Given the description of an element on the screen output the (x, y) to click on. 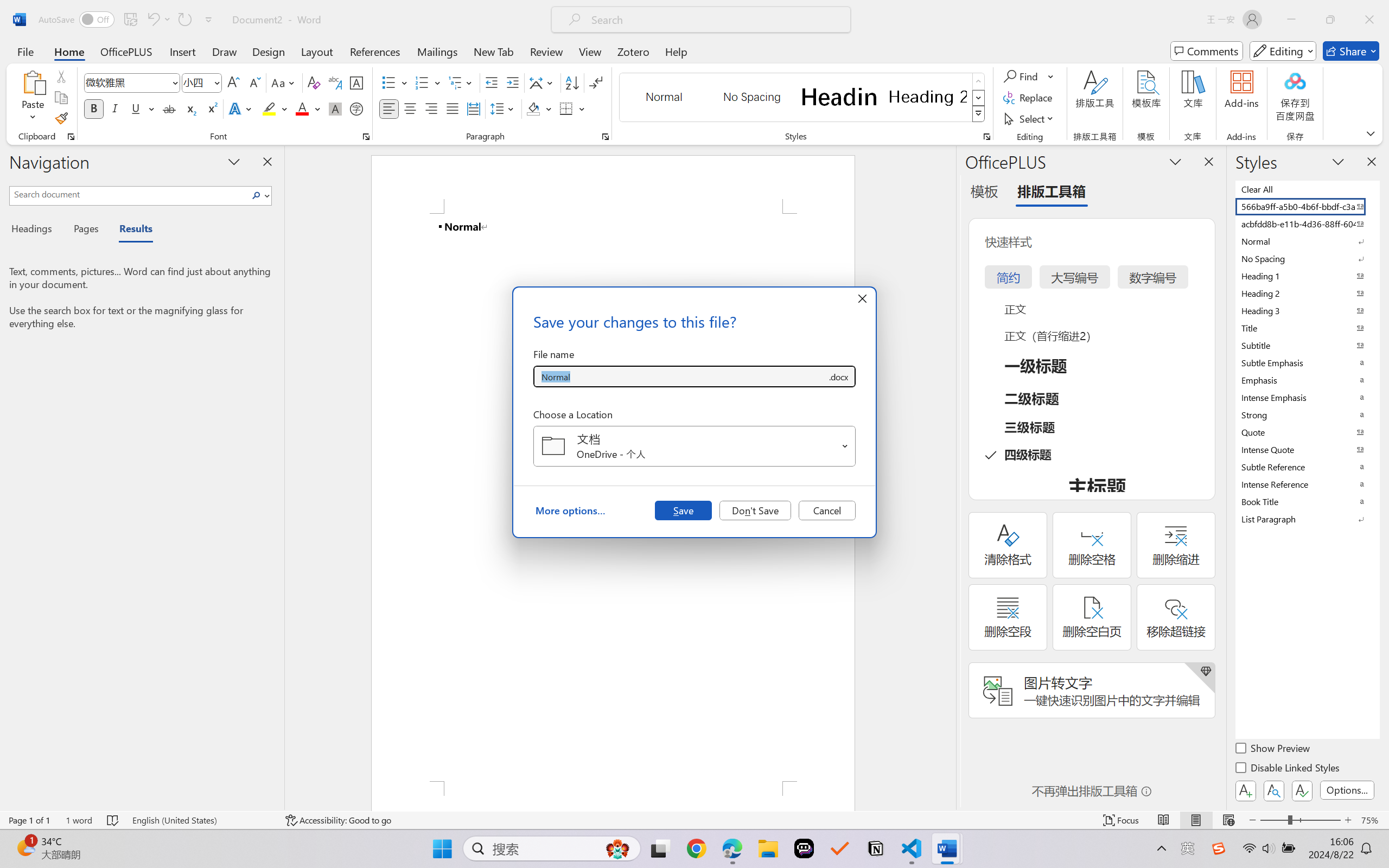
Intense Quote (1306, 449)
Design (268, 51)
OfficePLUS (126, 51)
Comments (1206, 50)
Sort... (571, 82)
Row up (978, 81)
Heading 3 (1306, 310)
Heading 2 (927, 96)
Styles... (986, 136)
Quote (1306, 431)
Align Right (431, 108)
